Given the description of an element on the screen output the (x, y) to click on. 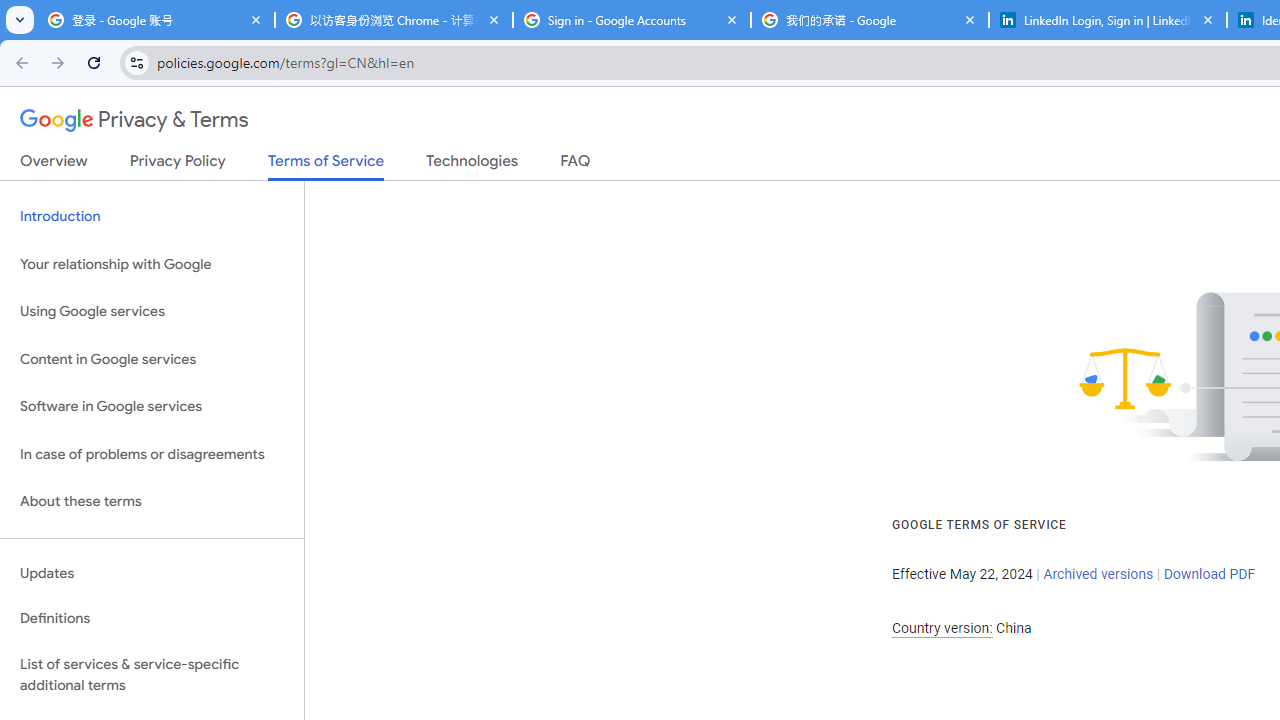
In case of problems or disagreements (152, 453)
